Given the description of an element on the screen output the (x, y) to click on. 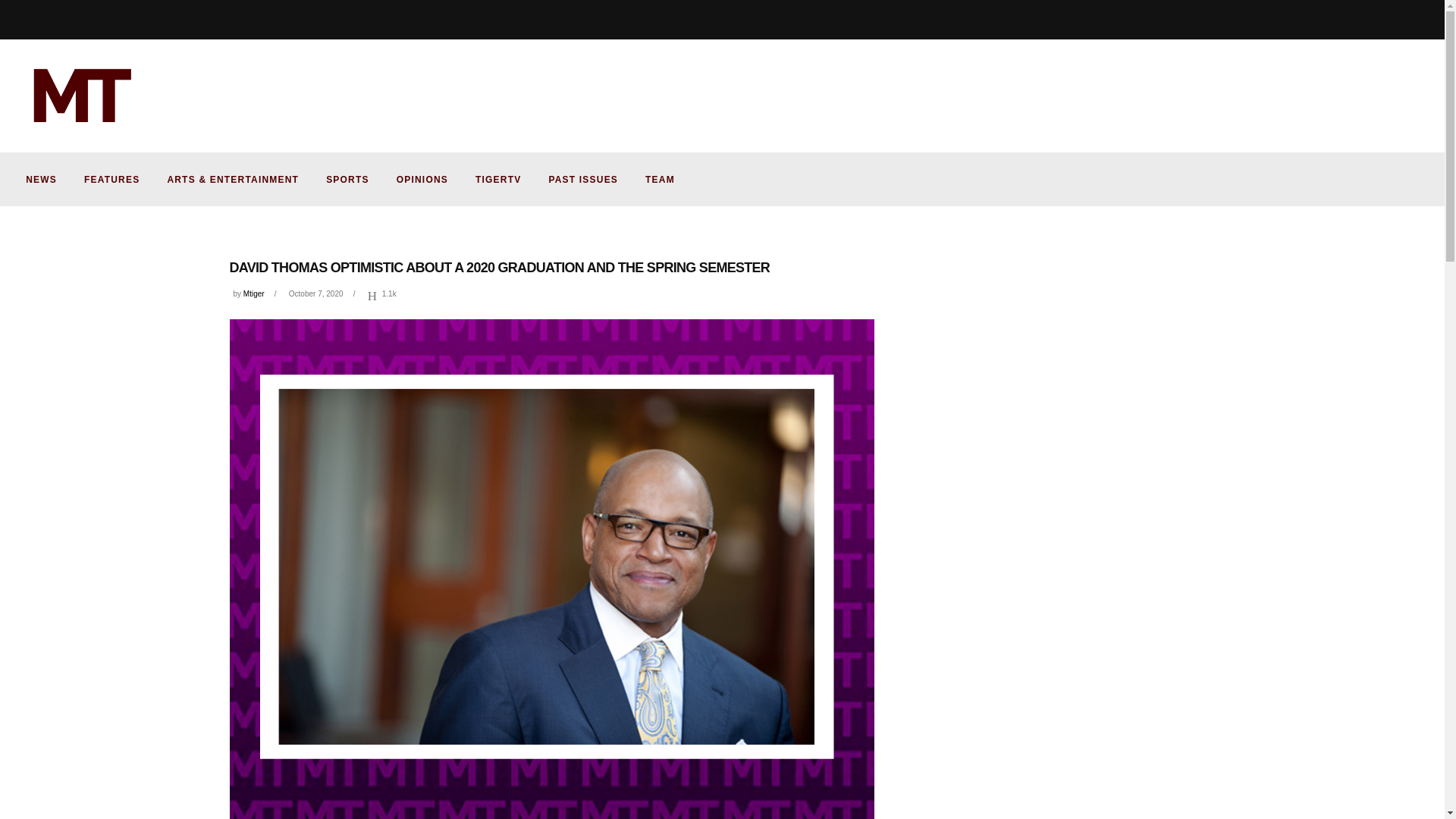
OPINIONS (421, 179)
TEAM (659, 179)
PAST ISSUES (582, 179)
FEATURES (110, 179)
October 7, 2020 (315, 293)
SPORTS (347, 179)
Mtiger (253, 293)
TIGERTV (497, 179)
